Given the description of an element on the screen output the (x, y) to click on. 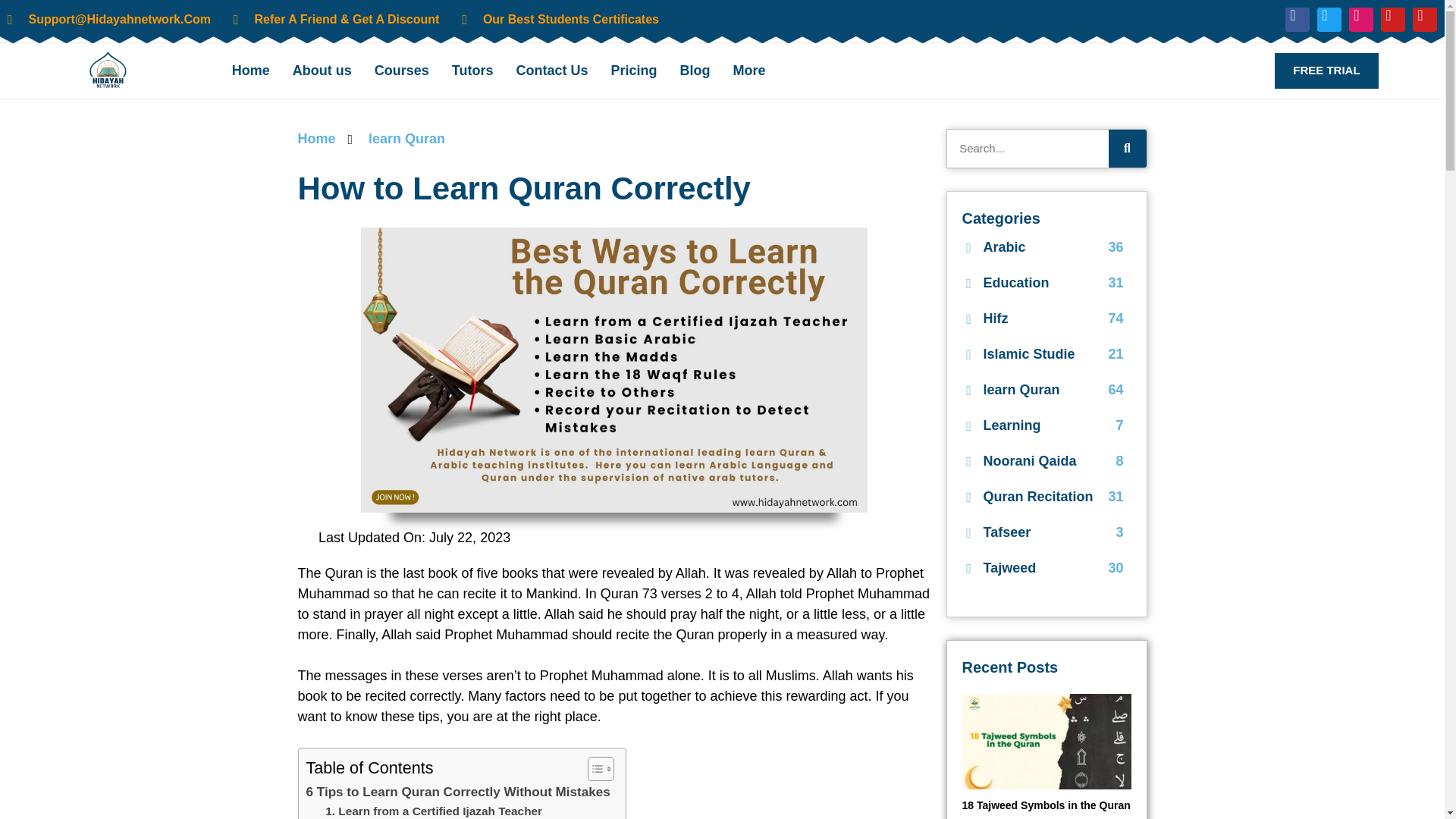
6 Tips to Learn Quran Correctly Without Mistakes (457, 792)
Our Best Students Certificates (560, 19)
About us (322, 70)
Courses (401, 70)
1. Learn from a Certified Ijazah Teacher (432, 810)
Home (251, 70)
